Given the description of an element on the screen output the (x, y) to click on. 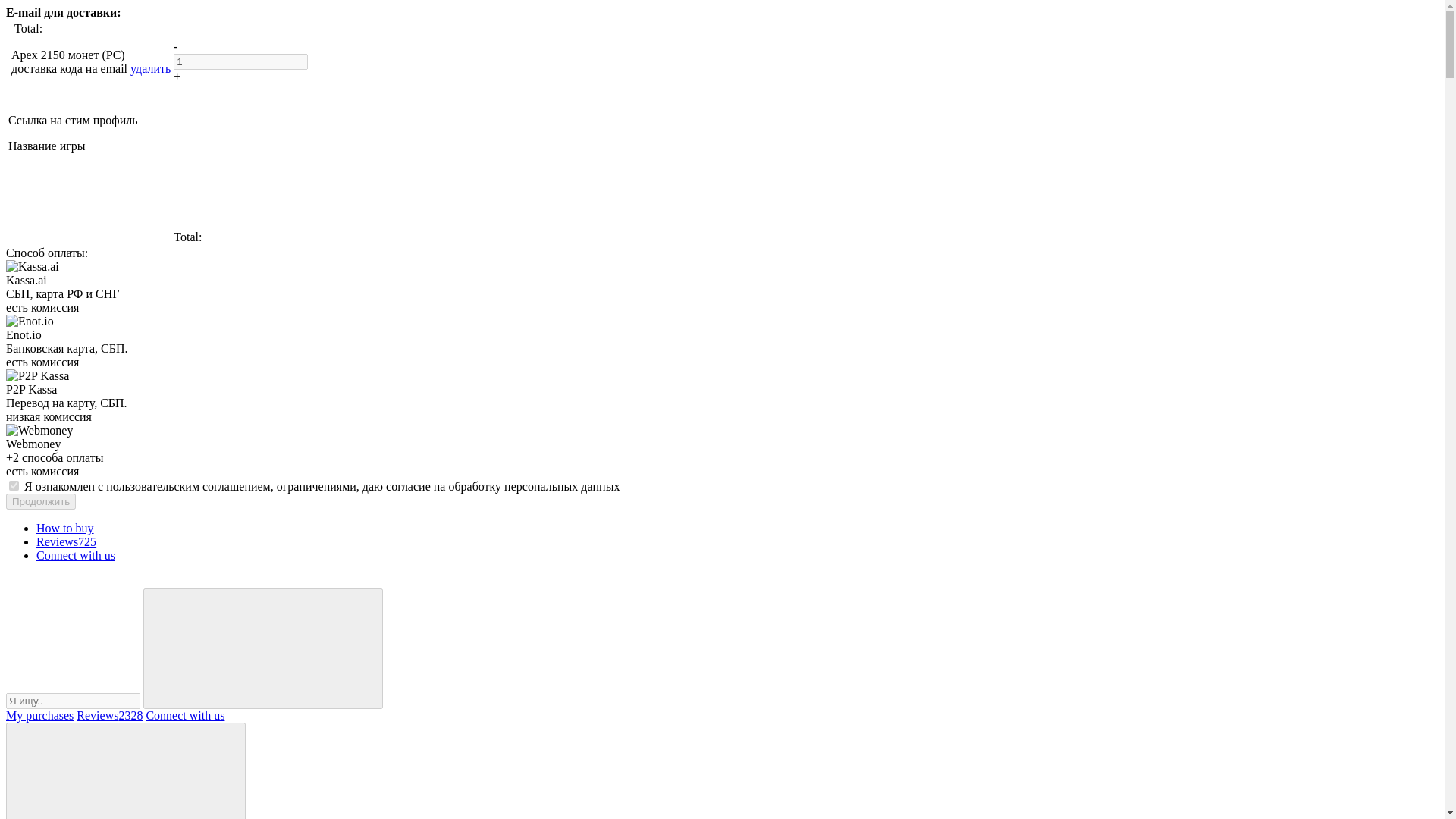
on (13, 485)
Connect with us (75, 554)
Reviews2328 (109, 715)
1 (240, 61)
How to buy (65, 527)
My purchases (39, 715)
Connect with us (184, 715)
Reviews725 (66, 541)
